Given the description of an element on the screen output the (x, y) to click on. 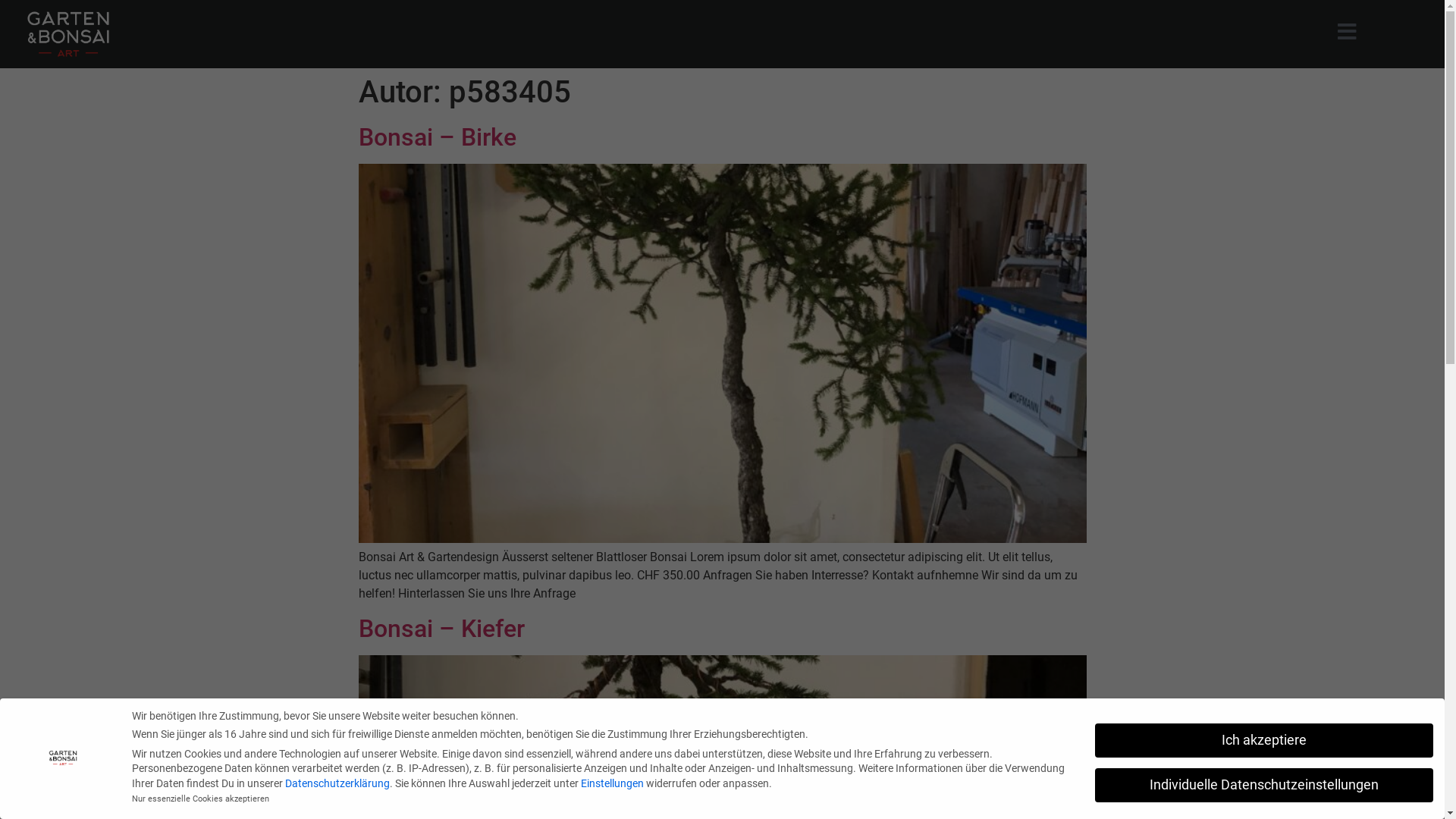
Einstellungen Element type: text (611, 783)
Nur essenzielle Cookies akzeptieren Element type: text (200, 798)
Ich akzeptiere Element type: text (1264, 740)
Individuelle Datenschutzeinstellungen Element type: text (1264, 785)
